Given the description of an element on the screen output the (x, y) to click on. 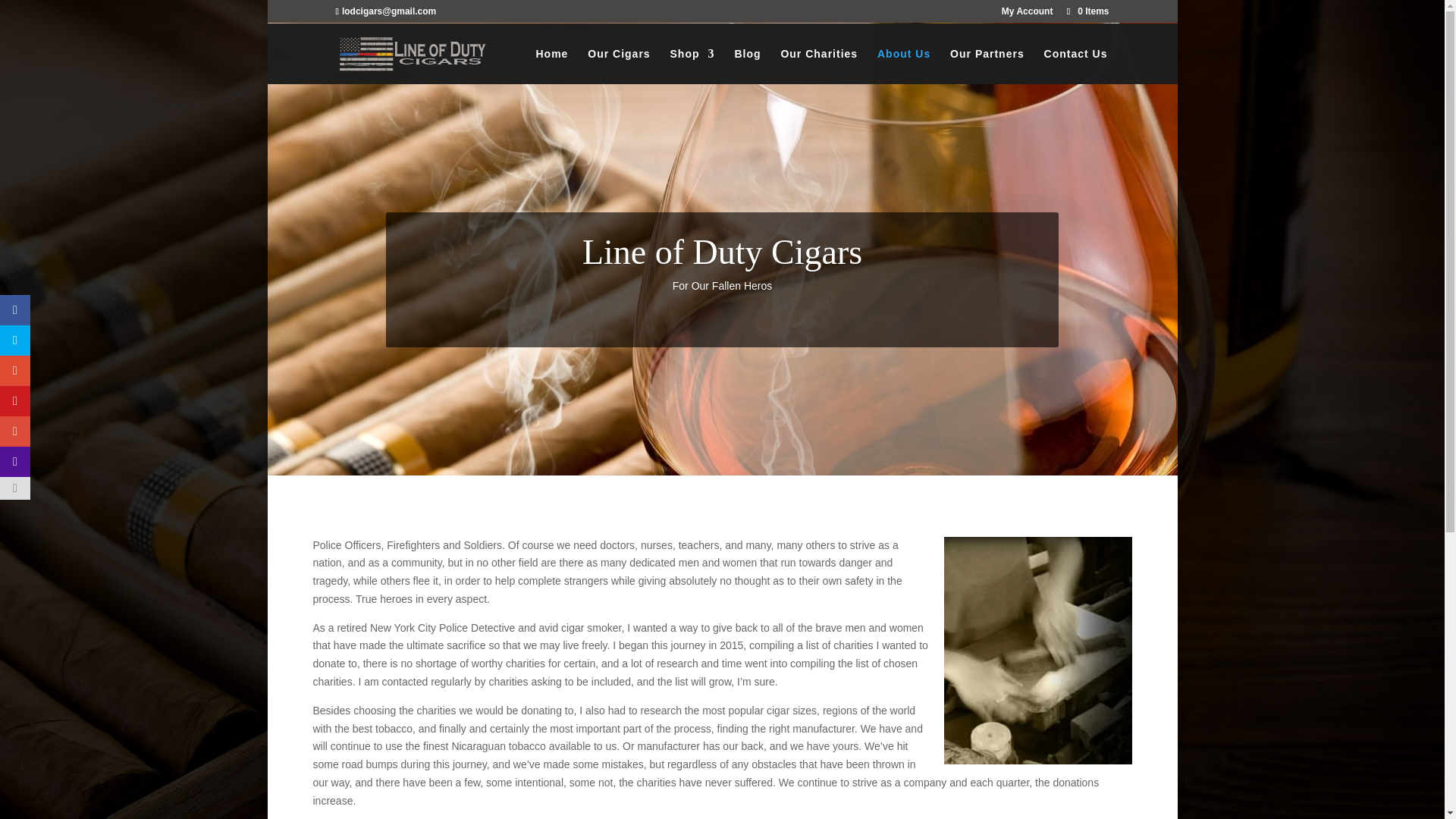
Contact Us (1075, 66)
My Account (1026, 14)
Home (551, 66)
About Us (903, 66)
0 Items (1086, 10)
Shop (691, 66)
Our Partners (987, 66)
Our Charities (818, 66)
Our Cigars (618, 66)
